Given the description of an element on the screen output the (x, y) to click on. 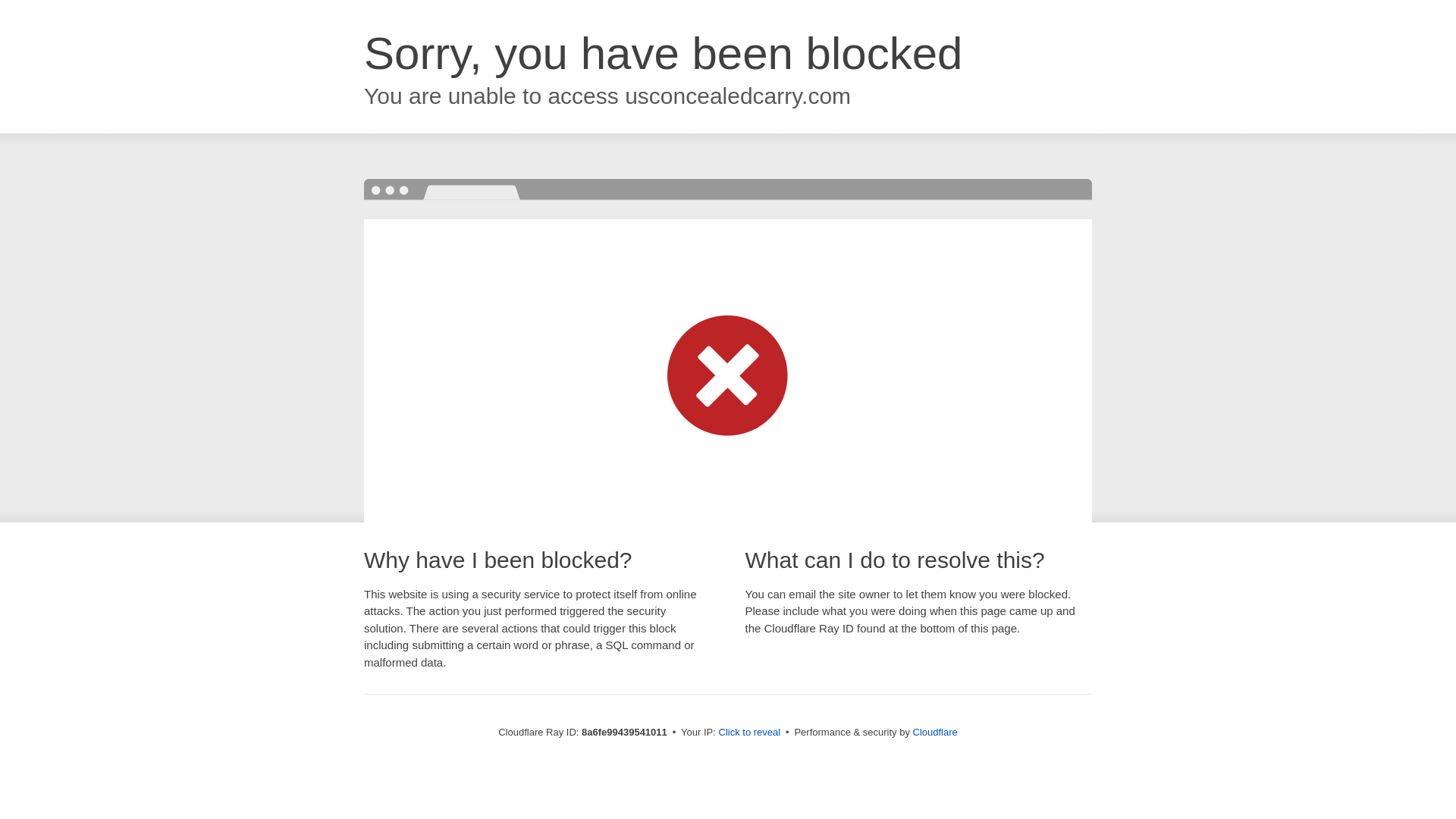
Cloudflare (935, 731)
Click to reveal (749, 732)
